Given the description of an element on the screen output the (x, y) to click on. 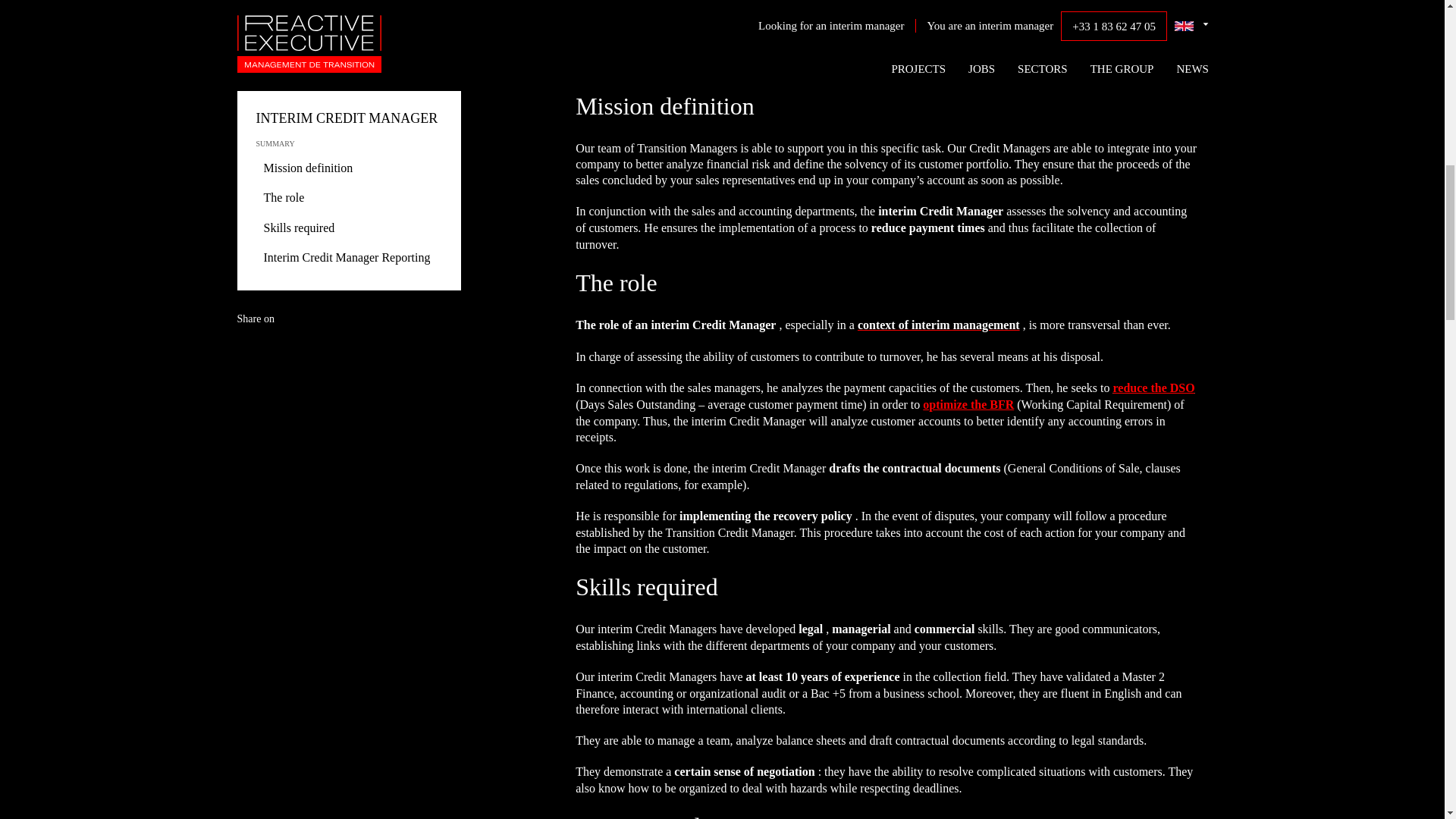
context of interim management (938, 324)
optimize the BFR (968, 404)
Interim Credit Manager Reporting (343, 257)
Mission definition (304, 167)
Interim Credit Manager Reporting (343, 257)
Share by email (349, 362)
Share on Facebook (319, 362)
The role (280, 197)
Skills required (295, 228)
Skills required (295, 228)
Mission definition (304, 167)
reduce the DSO (1154, 387)
Share on Linkedin (289, 362)
The role (280, 197)
